Given the description of an element on the screen output the (x, y) to click on. 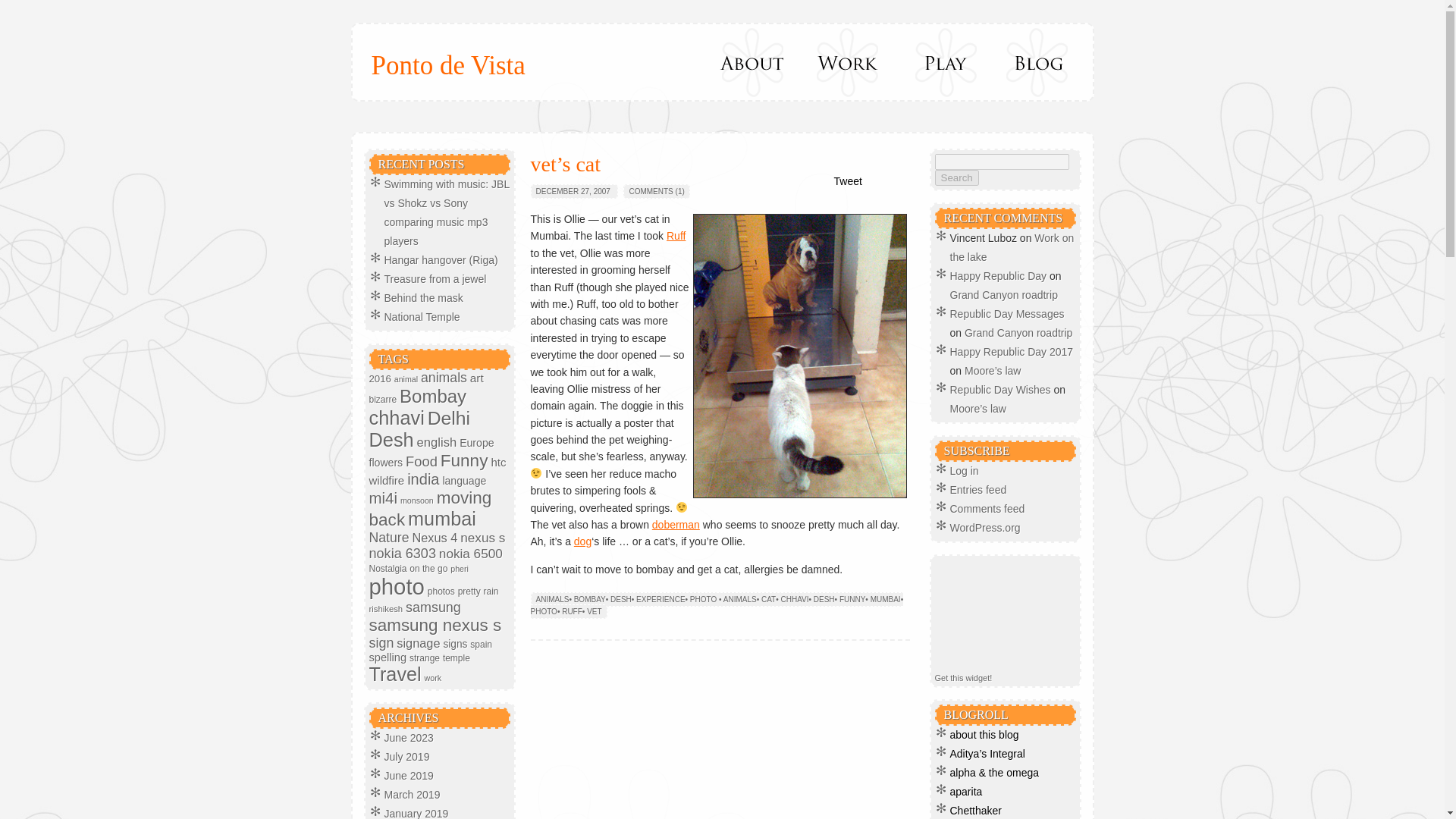
Behind the mask (423, 297)
About (751, 61)
mi4i (382, 497)
Europe (476, 442)
htc wildfire (436, 470)
english (436, 441)
Search (956, 177)
Desh (390, 439)
nexus s (482, 537)
2016 (379, 378)
Ponto de Vista (448, 65)
nokia 6500 (470, 553)
india (423, 478)
animal (405, 379)
art (476, 377)
